Given the description of an element on the screen output the (x, y) to click on. 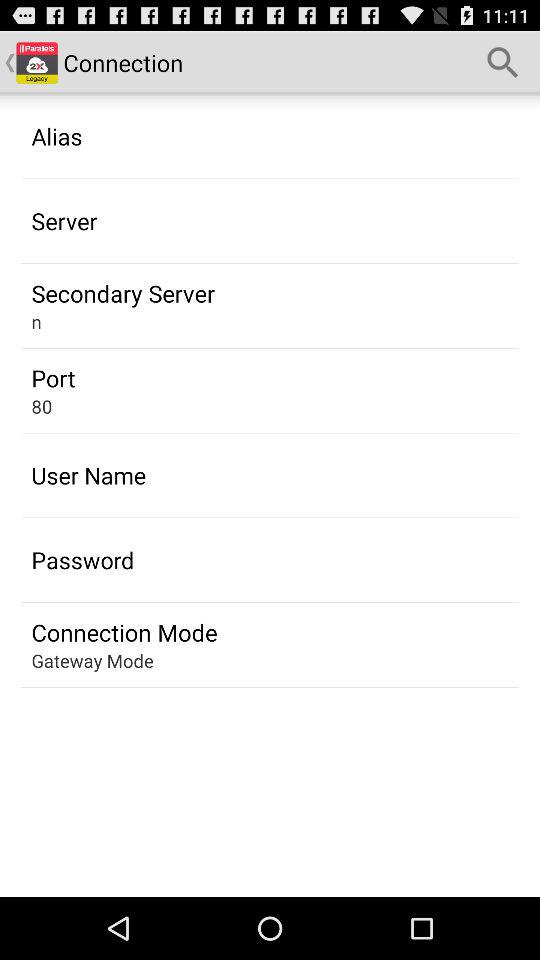
launch app to the right of the connection icon (503, 62)
